Given the description of an element on the screen output the (x, y) to click on. 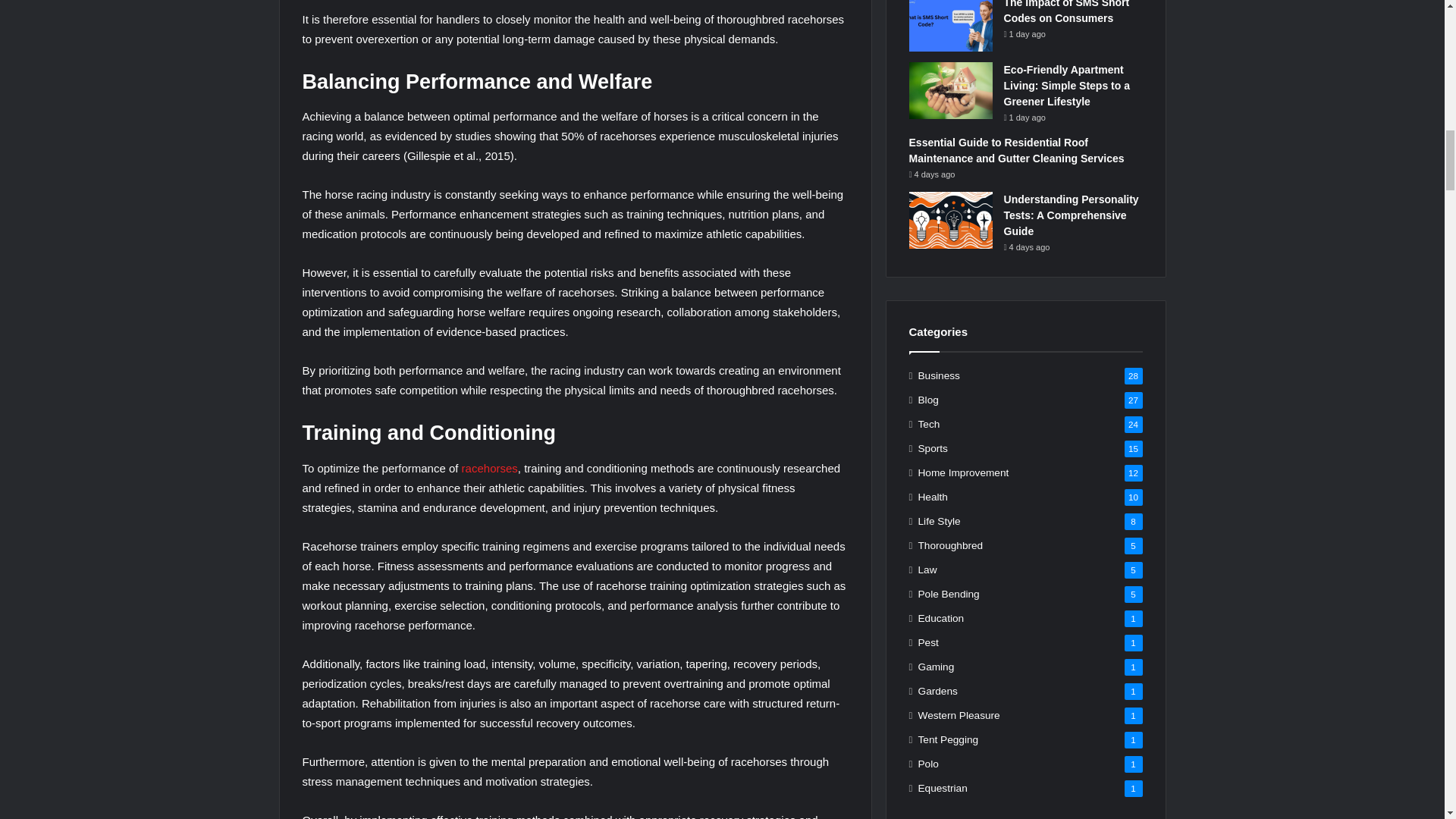
racehorses (489, 468)
